Given the description of an element on the screen output the (x, y) to click on. 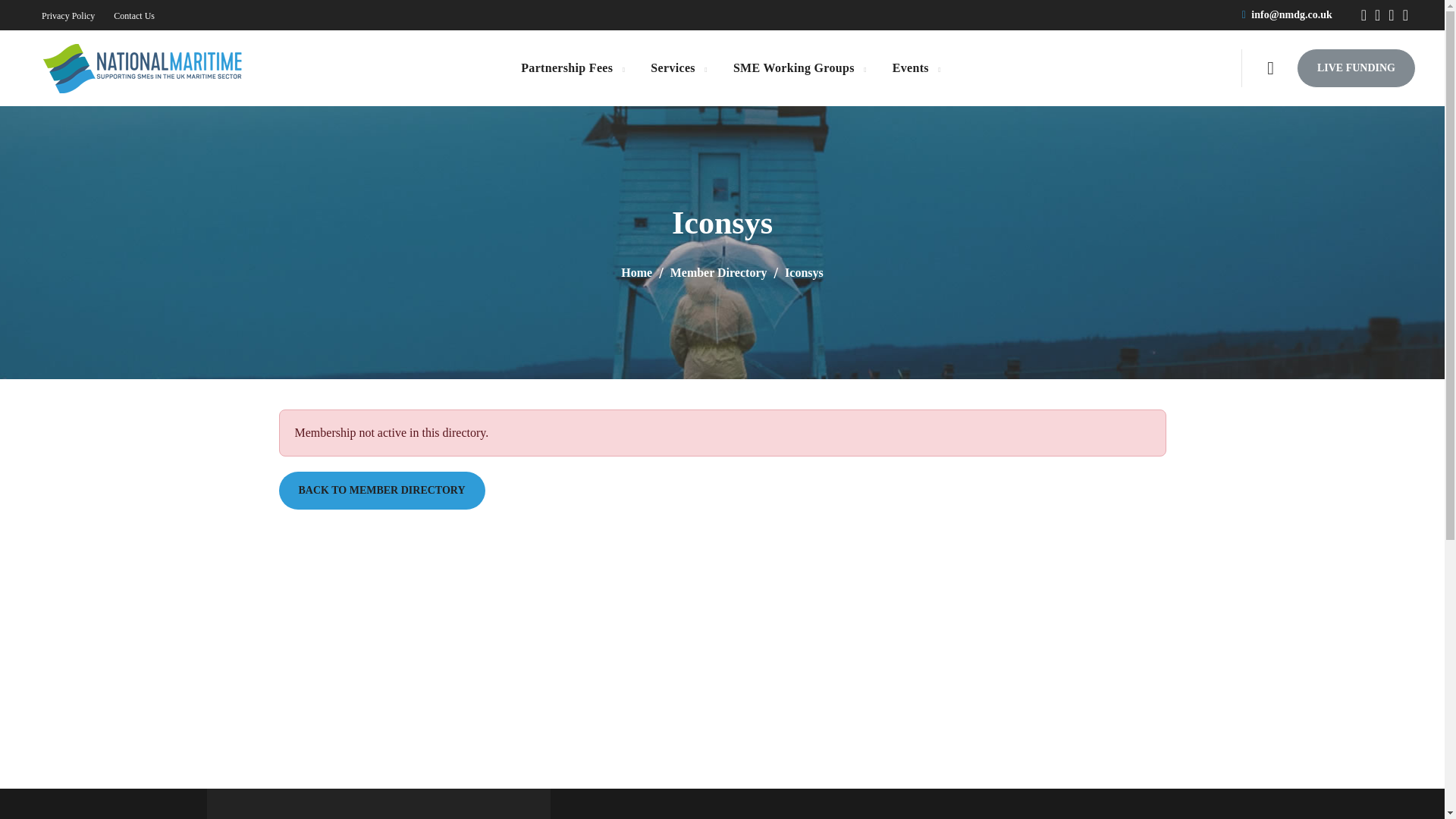
SME Working Groups (799, 68)
Partnership Fees (571, 68)
Services (678, 68)
Privacy Policy (68, 15)
Contact Us (133, 15)
Events (916, 68)
